Given the description of an element on the screen output the (x, y) to click on. 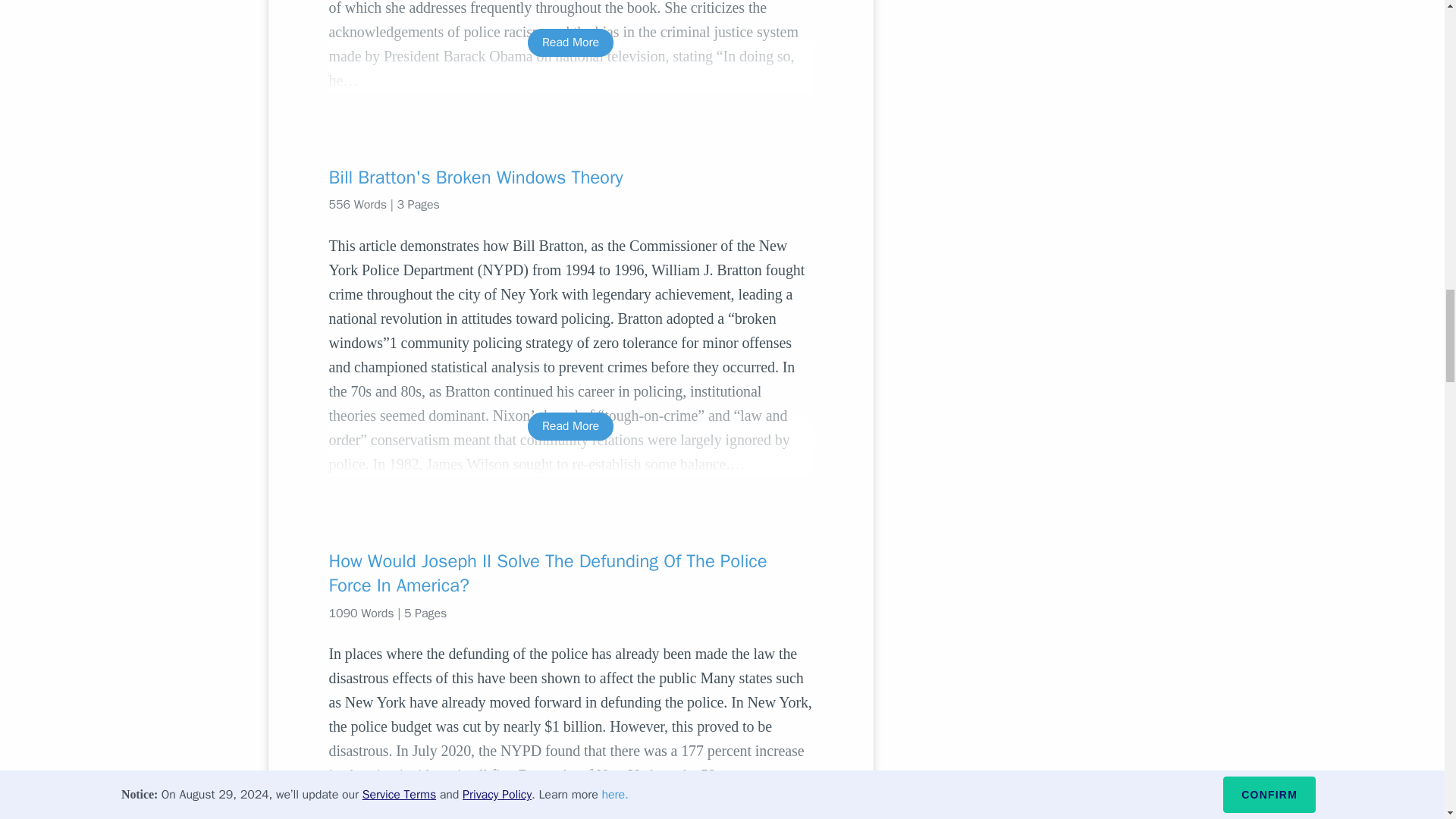
Read More (569, 426)
Read More (569, 42)
Read More (569, 786)
Bill Bratton's Broken Windows Theory (570, 177)
